Given the description of an element on the screen output the (x, y) to click on. 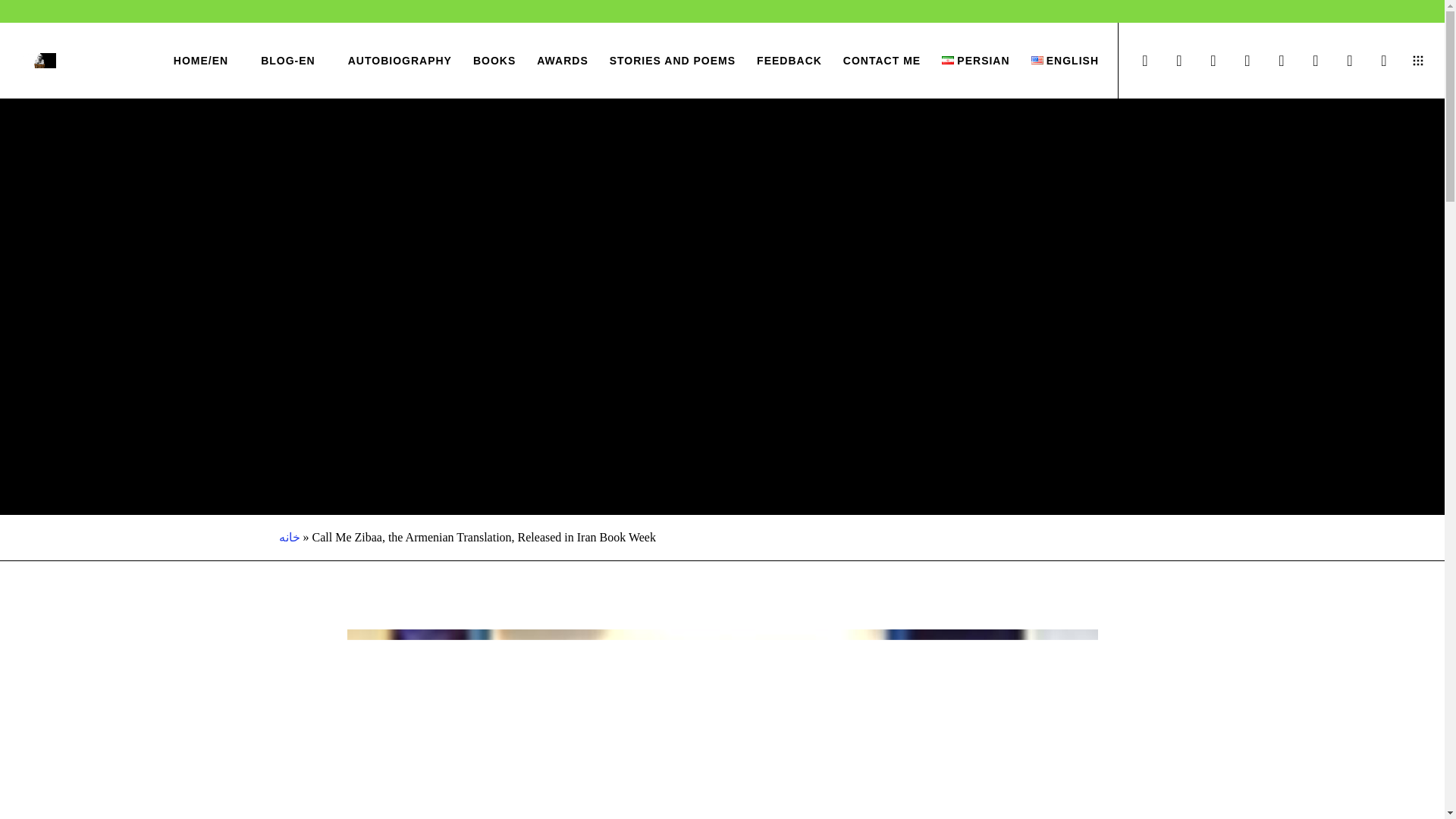
ENGLISH (1054, 60)
BLOG-EN (277, 60)
STORIES AND POEMS (661, 60)
CONTACT ME (871, 60)
AWARDS (551, 60)
PERSIAN (964, 60)
AUTOBIOGRAPHY (388, 60)
FEEDBACK (778, 60)
